Given the description of an element on the screen output the (x, y) to click on. 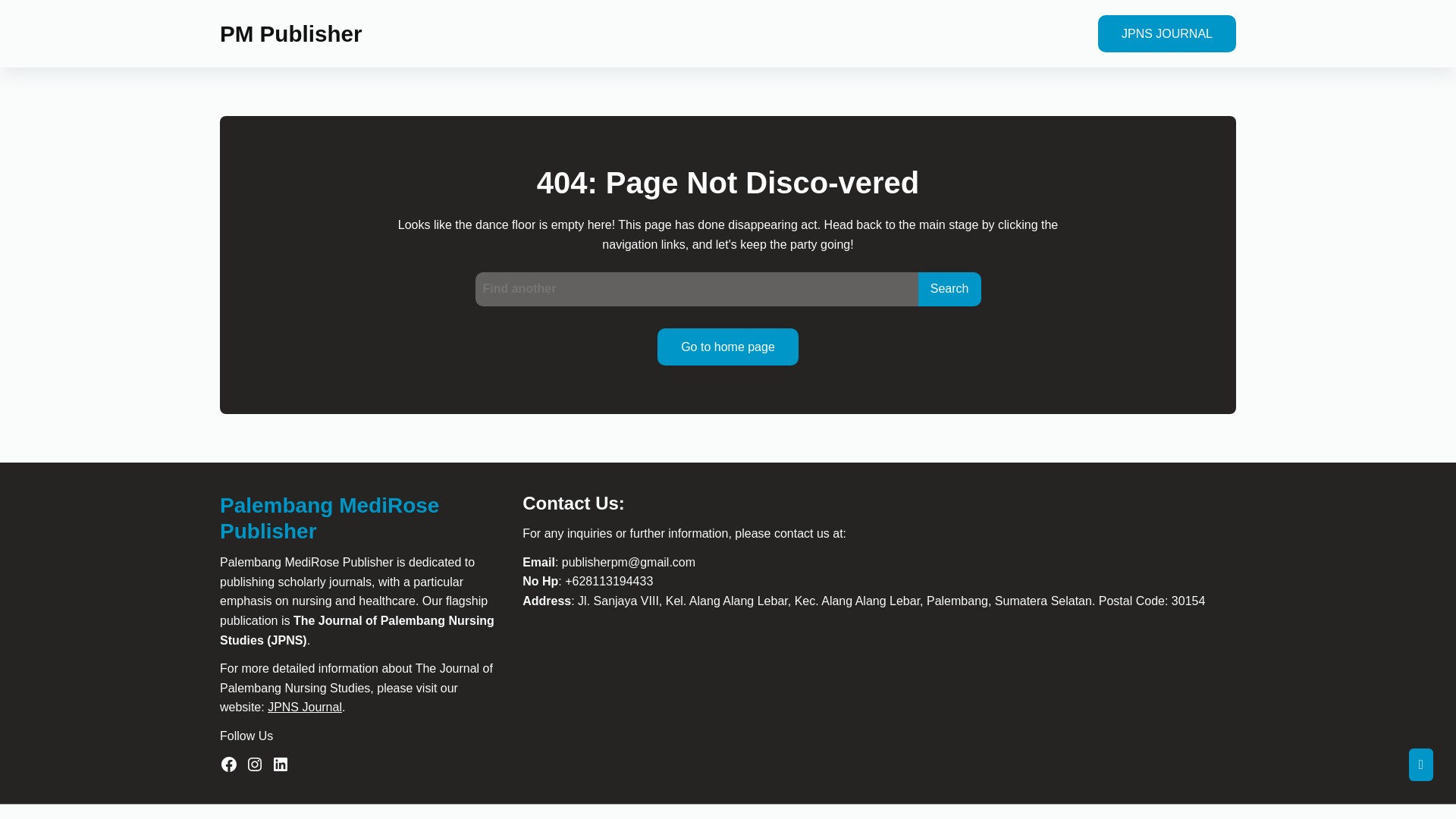
Go to home page (722, 346)
Search (943, 288)
PM Publisher (284, 33)
JPNS JOURNAL (1161, 33)
